Given the description of an element on the screen output the (x, y) to click on. 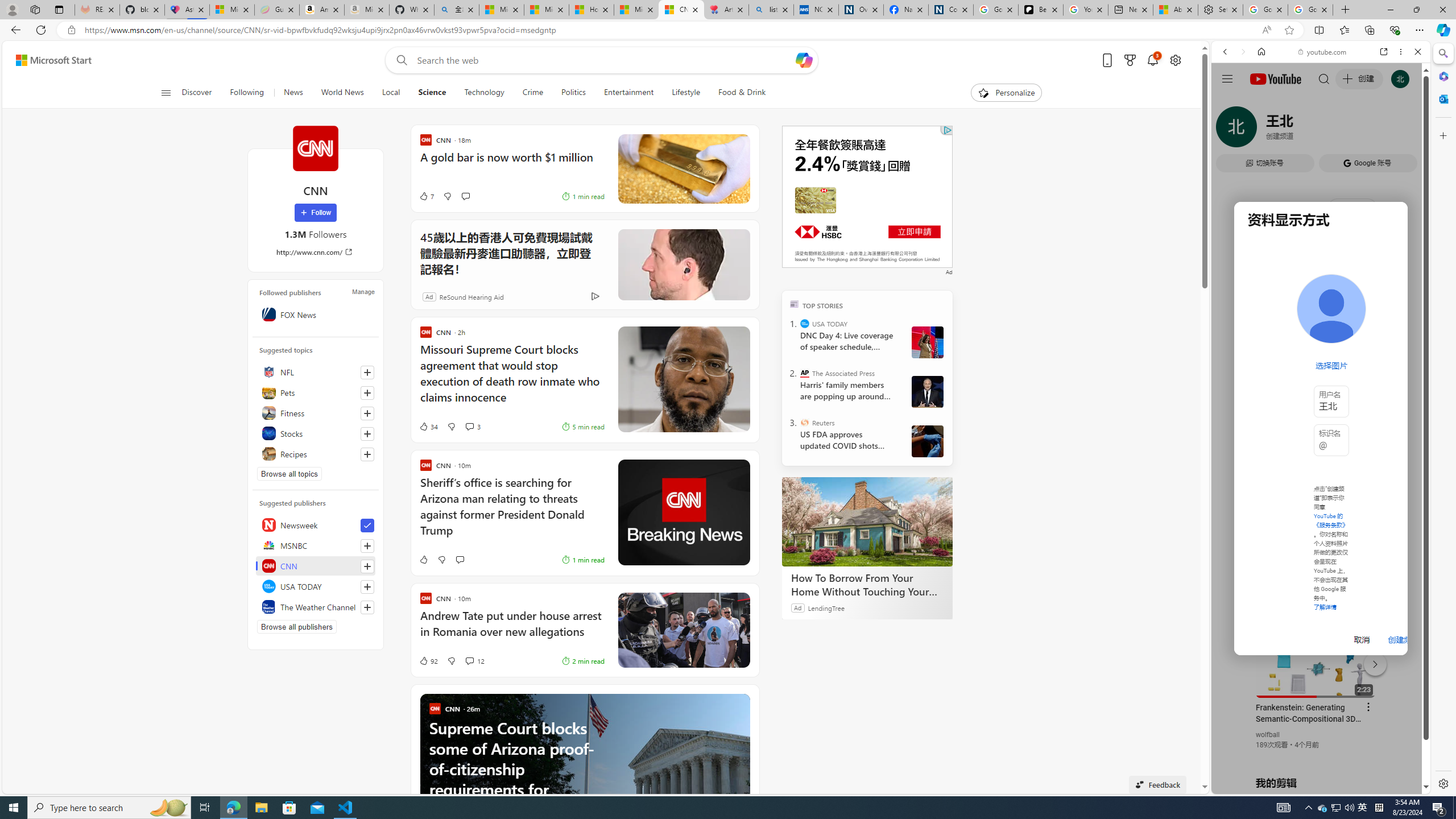
Search videos from youtube.com (1299, 373)
Enter your search term (603, 59)
Skip to content (49, 59)
Class: dict_pnIcon rms_img (1312, 784)
CNN - MSN (681, 9)
Open Copilot (803, 59)
Home (1261, 51)
